Given the description of an element on the screen output the (x, y) to click on. 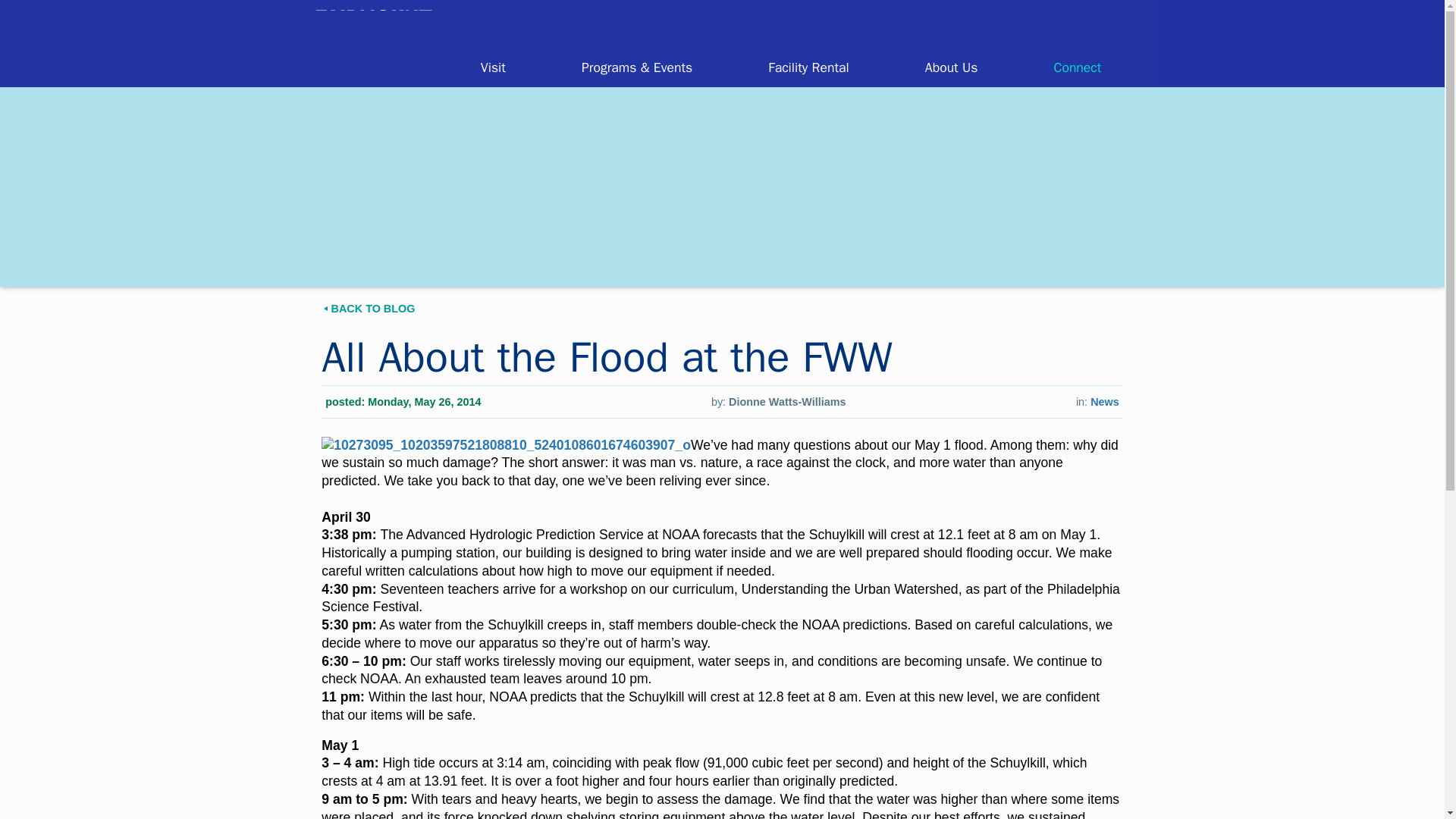
Visit (492, 67)
About Us (952, 67)
Facility Rental (808, 67)
Connect (1077, 67)
